Given the description of an element on the screen output the (x, y) to click on. 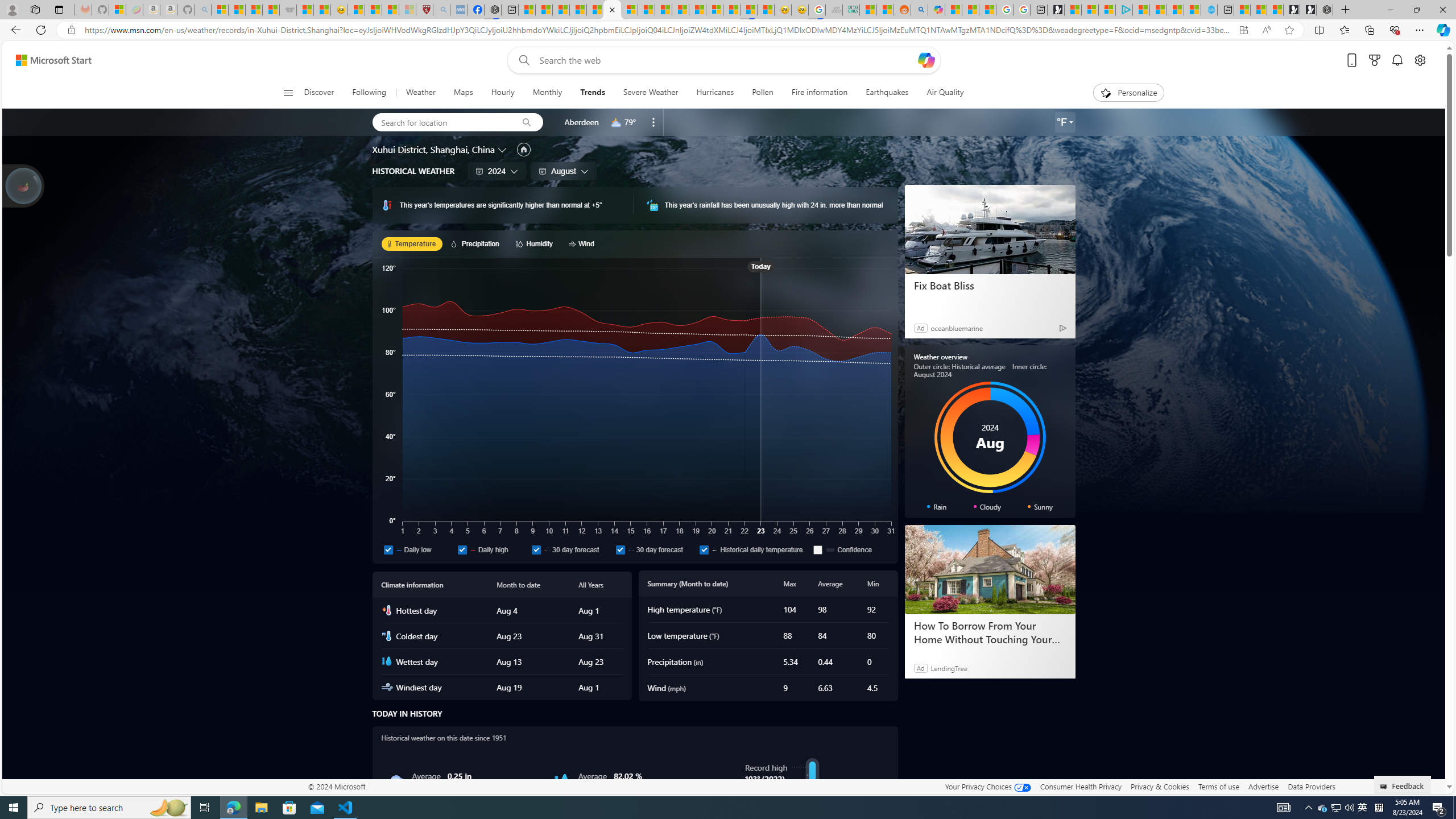
Monthly (547, 92)
Join us in planting real trees to help our planet! (23, 184)
Precipitation (476, 243)
Pollen (762, 92)
Humidity (562, 781)
Search for location (440, 122)
Daily low (417, 549)
Wind (582, 243)
